Given the description of an element on the screen output the (x, y) to click on. 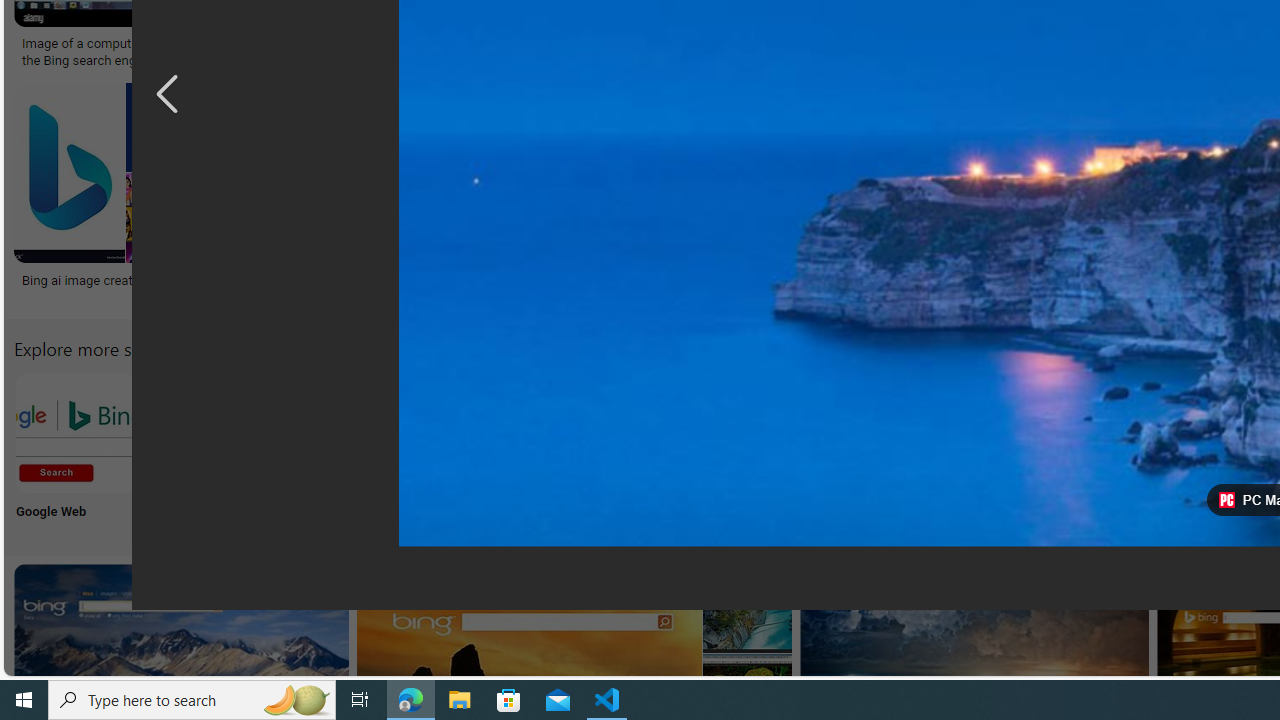
Bing Search Results (1131, 432)
Bing Search App Icon (735, 432)
Clip Art (867, 450)
Bing Search Results Results (1131, 450)
Bing Search App Logo (207, 432)
Bing People Search (999, 432)
Bing Search Dark Mode (604, 432)
BingSave (647, 196)
FIX: Downloading proxy script message on Google Chrome (927, 287)
Google Web Search Bing (75, 432)
Image result for Bing Search Site (747, 608)
Bing ai image creator (82, 279)
Image Search Bing Engine (423, 44)
